Given the description of an element on the screen output the (x, y) to click on. 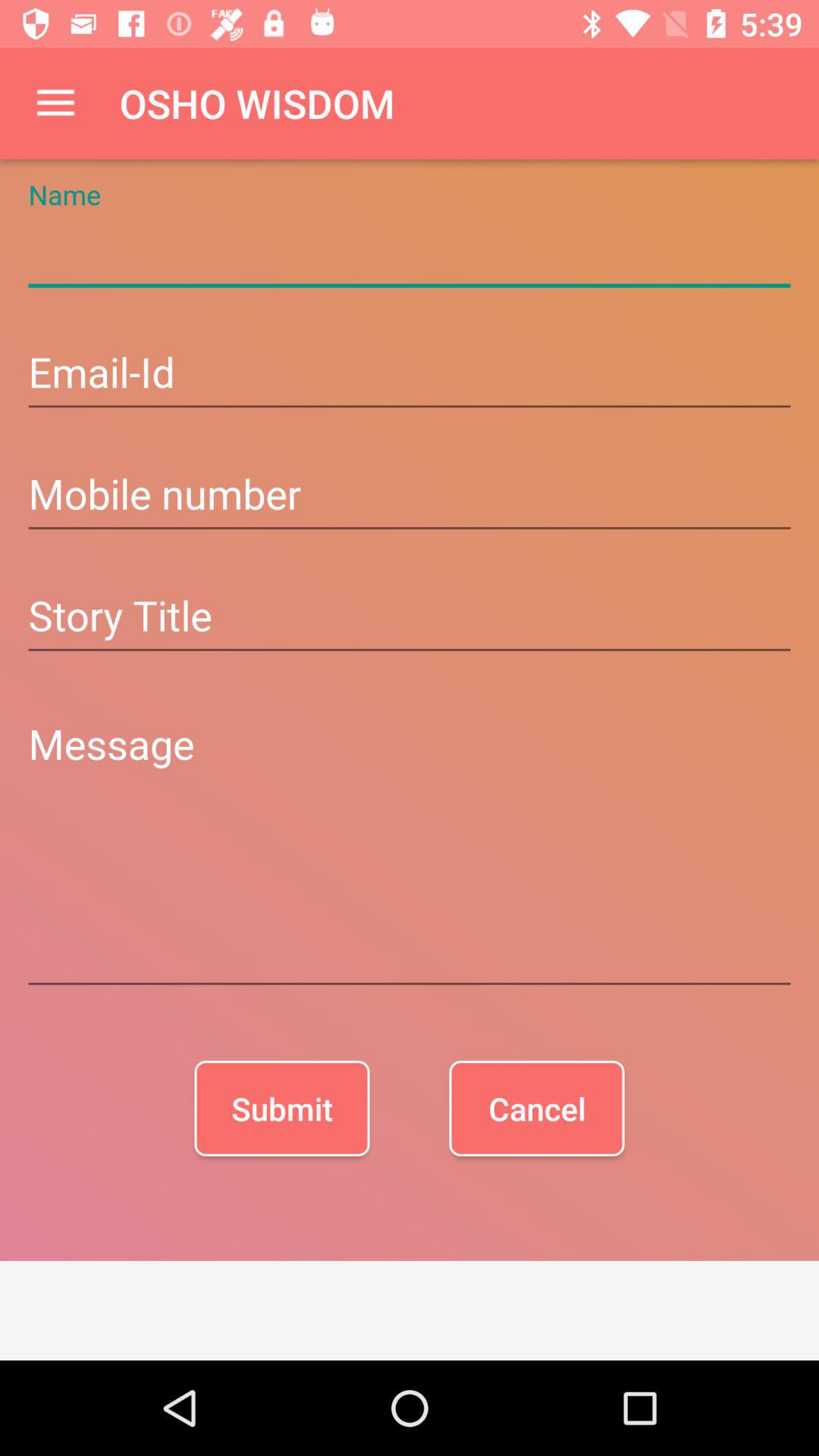
entre message (409, 850)
